Given the description of an element on the screen output the (x, y) to click on. 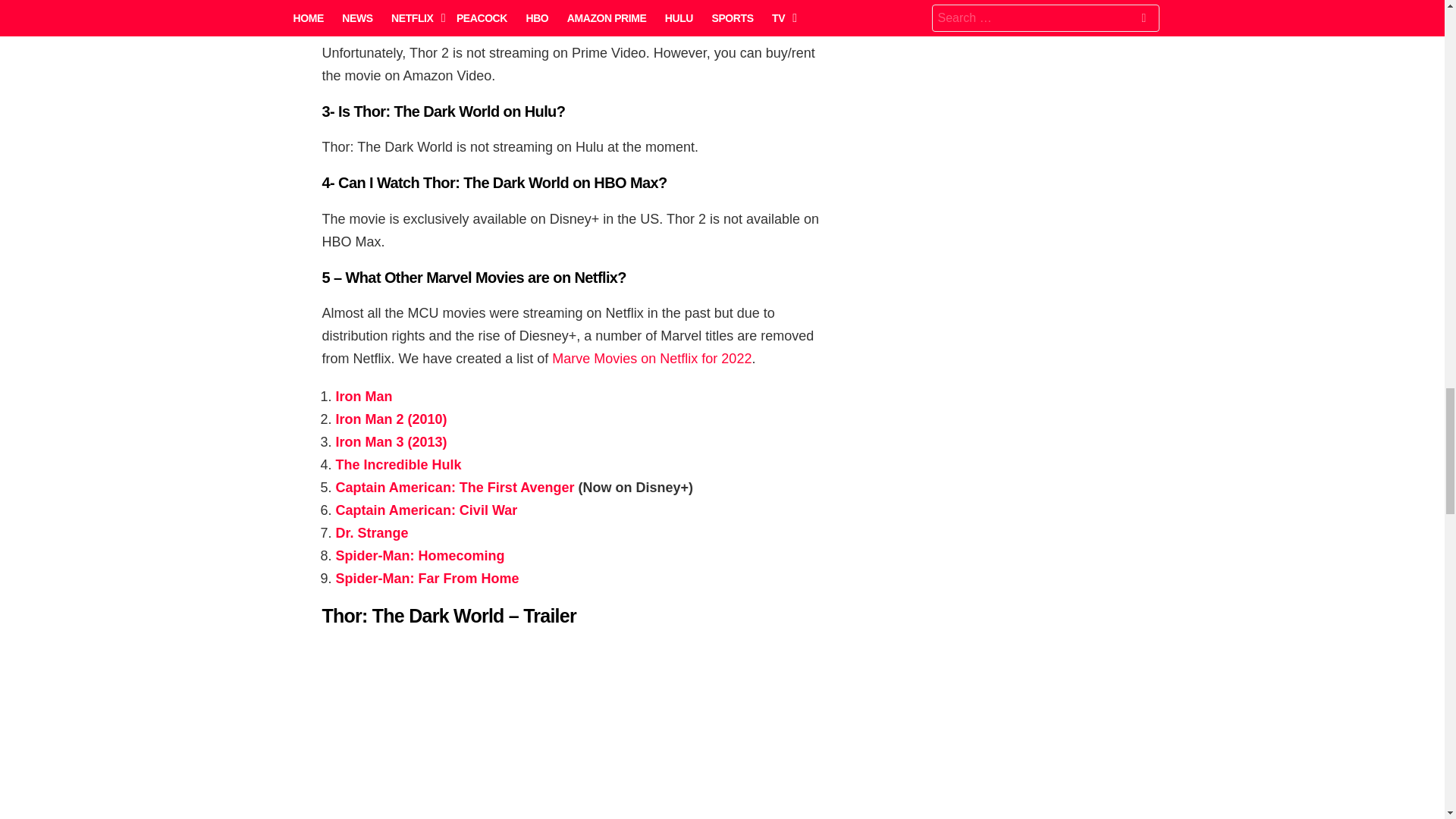
Captain American: Civil War (425, 509)
Dr. Strange (370, 532)
Iron Man (362, 396)
Marve Movies on Netflix for 2022 (651, 358)
Spider-Man: Far From Home (426, 578)
Captain American: The First Avenger (453, 487)
The Incredible Hulk (397, 464)
Thor: The Dark World Official Trailer HD (572, 730)
Spider-Man: Homecoming (418, 555)
